Given the description of an element on the screen output the (x, y) to click on. 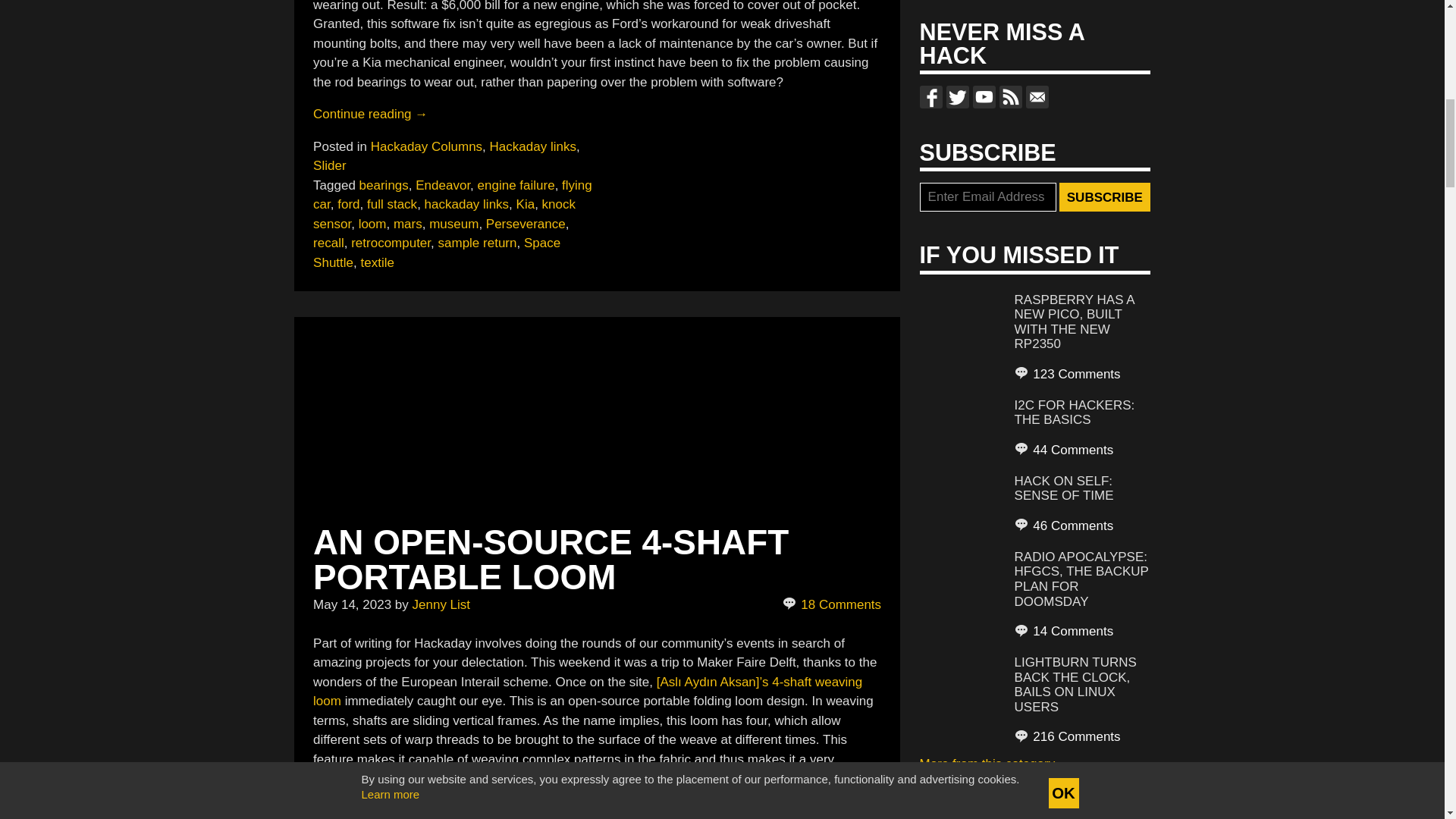
museum (454, 223)
Hackaday Columns (426, 146)
Slider (329, 165)
Kia (525, 204)
hackaday links (467, 204)
Posts by Jenny List (441, 604)
Hackaday links (532, 146)
knock sensor (444, 213)
Endeavor (442, 185)
engine failure (515, 185)
